Given the description of an element on the screen output the (x, y) to click on. 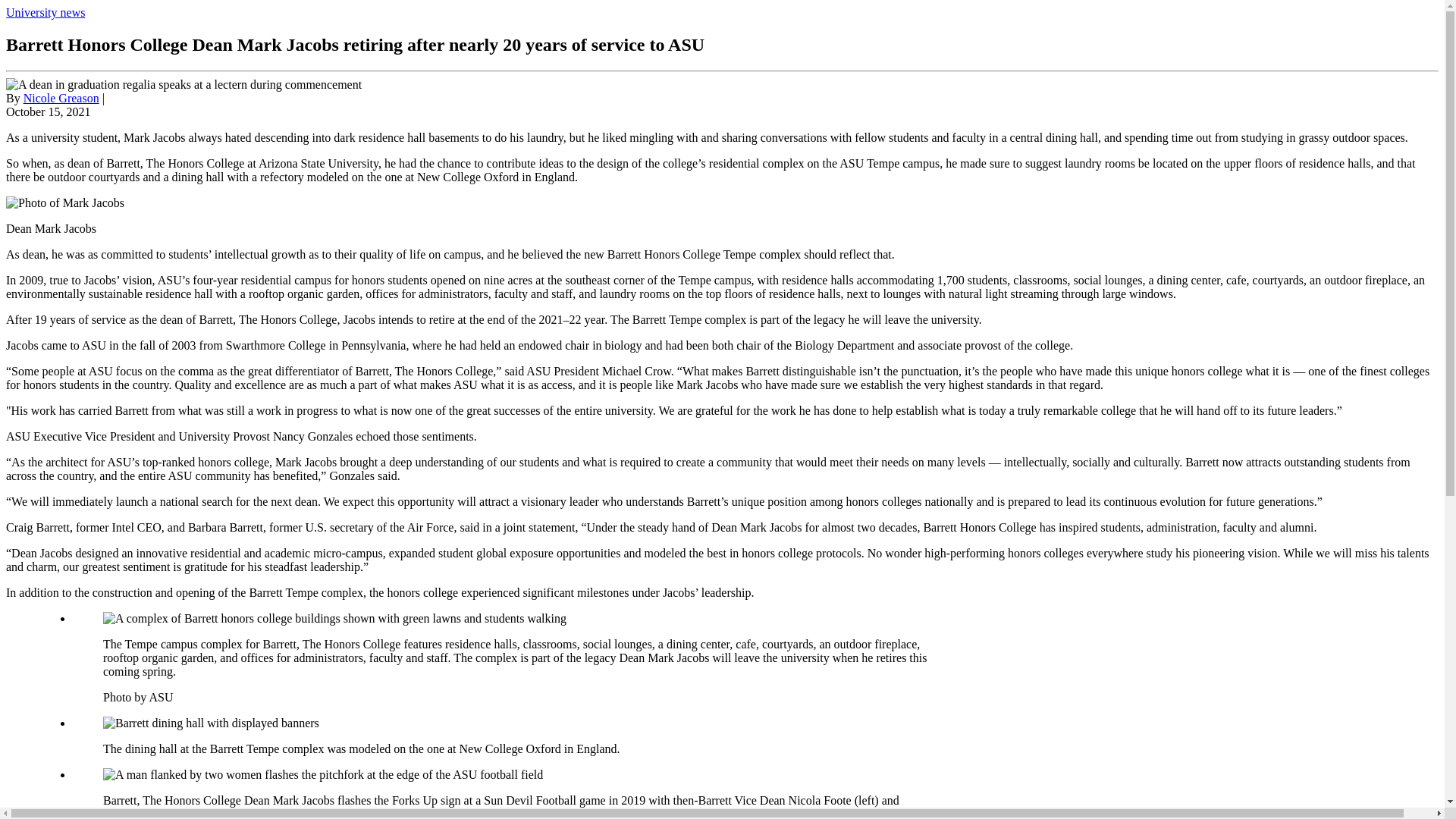
University news (44, 11)
Nicole Greason (61, 97)
Mark Jacobs (64, 202)
